Given the description of an element on the screen output the (x, y) to click on. 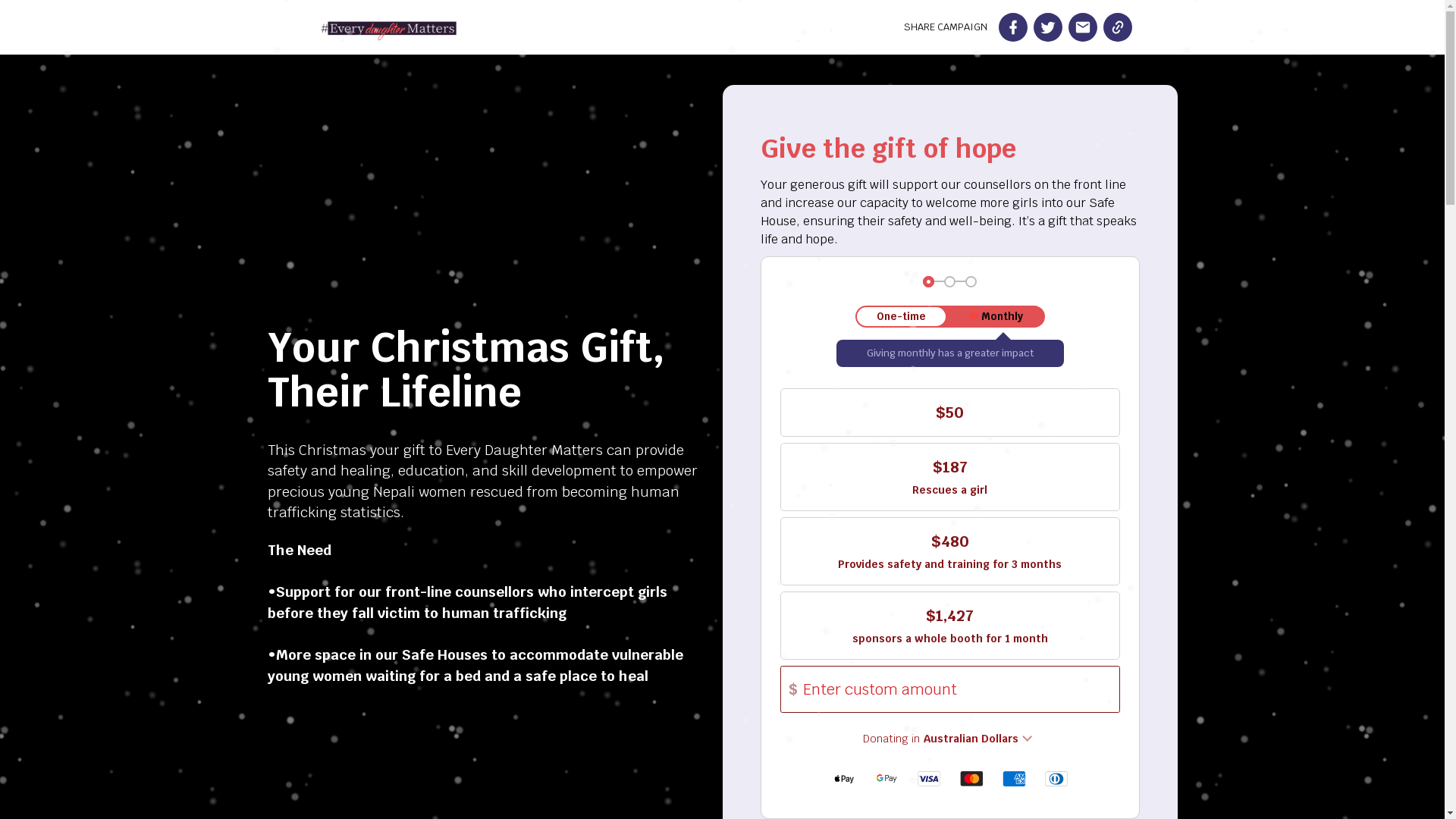
Step 3 Element type: text (970, 281)
One-time Element type: text (900, 316)
Tweet Element type: hover (1046, 26)
Step 1 Element type: text (928, 281)
$480
Provides safety and training for 3 months Element type: text (949, 551)
$50 Element type: text (949, 412)
$1,427
sponsors a whole booth for 1 month Element type: text (949, 625)
Share Element type: hover (1011, 26)
email Element type: text (1081, 26)
Step 2 Element type: text (949, 281)
$187
Rescues a girl Element type: text (949, 476)
Copy Link Element type: hover (1116, 26)
favorite
Monthly Element type: text (995, 316)
